Given the description of an element on the screen output the (x, y) to click on. 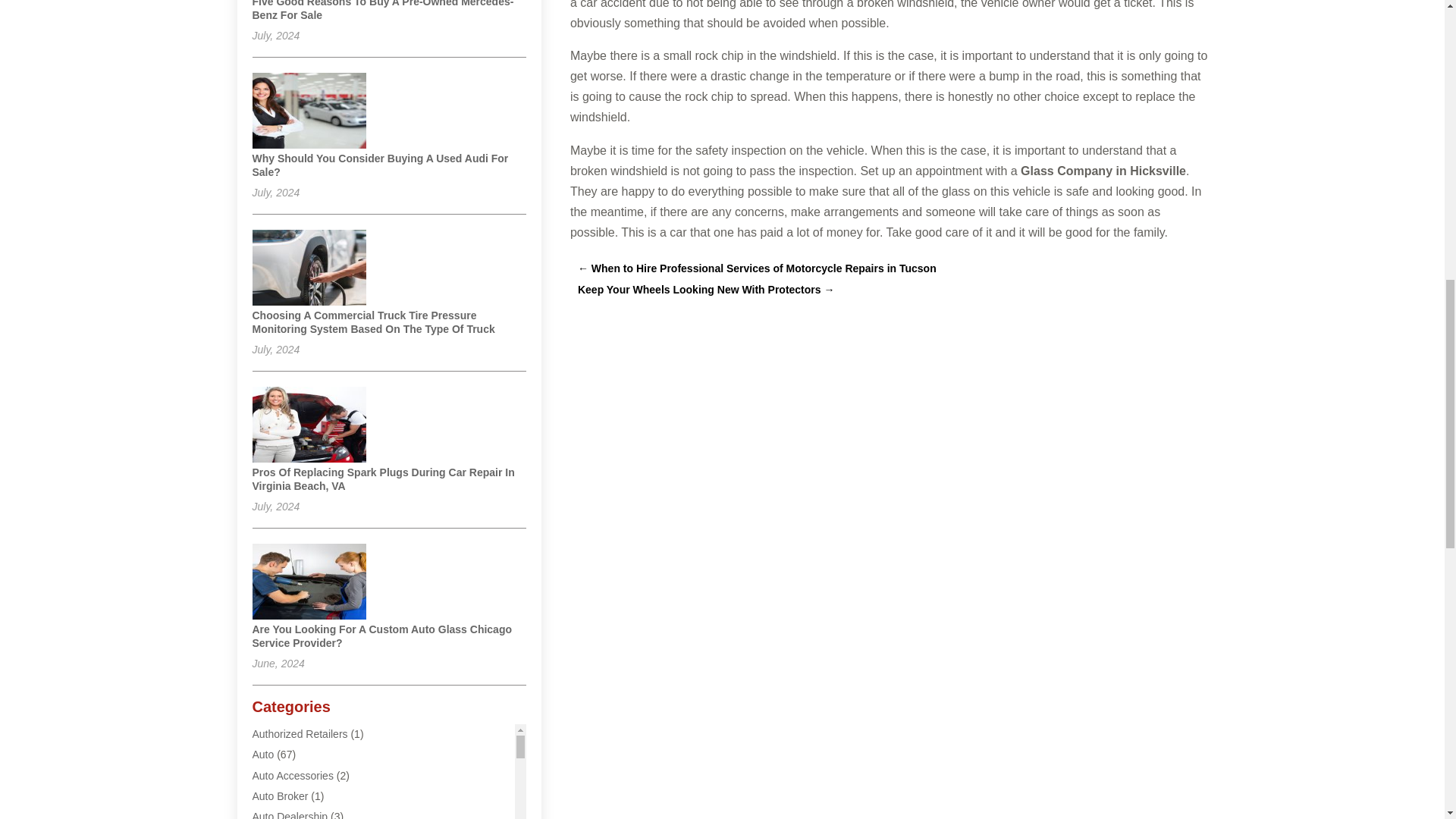
Auto (262, 754)
Auto Dealership (289, 814)
Auto Accessories (292, 775)
Why Should You Consider Buying A Used Audi For Sale? (379, 165)
Authorized Retailers (299, 734)
Five Good Reasons To Buy A Pre-Owned Mercedes-Benz For Sale (382, 10)
Auto Broker (279, 796)
